Given the description of an element on the screen output the (x, y) to click on. 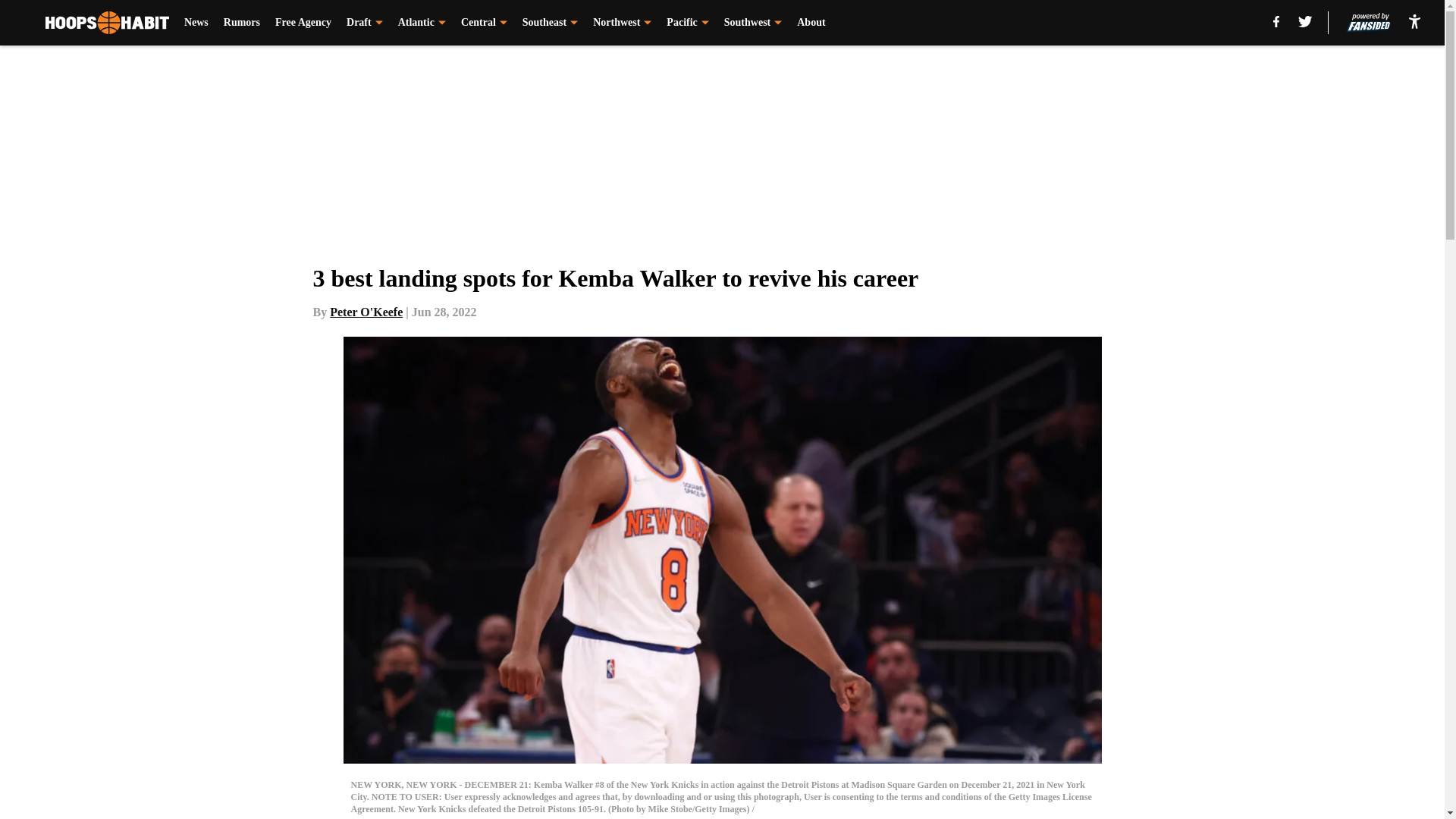
Central (483, 22)
Draft (364, 22)
Southeast (550, 22)
Free Agency (303, 22)
News (196, 22)
Rumors (242, 22)
Atlantic (421, 22)
Northwest (621, 22)
